Given the description of an element on the screen output the (x, y) to click on. 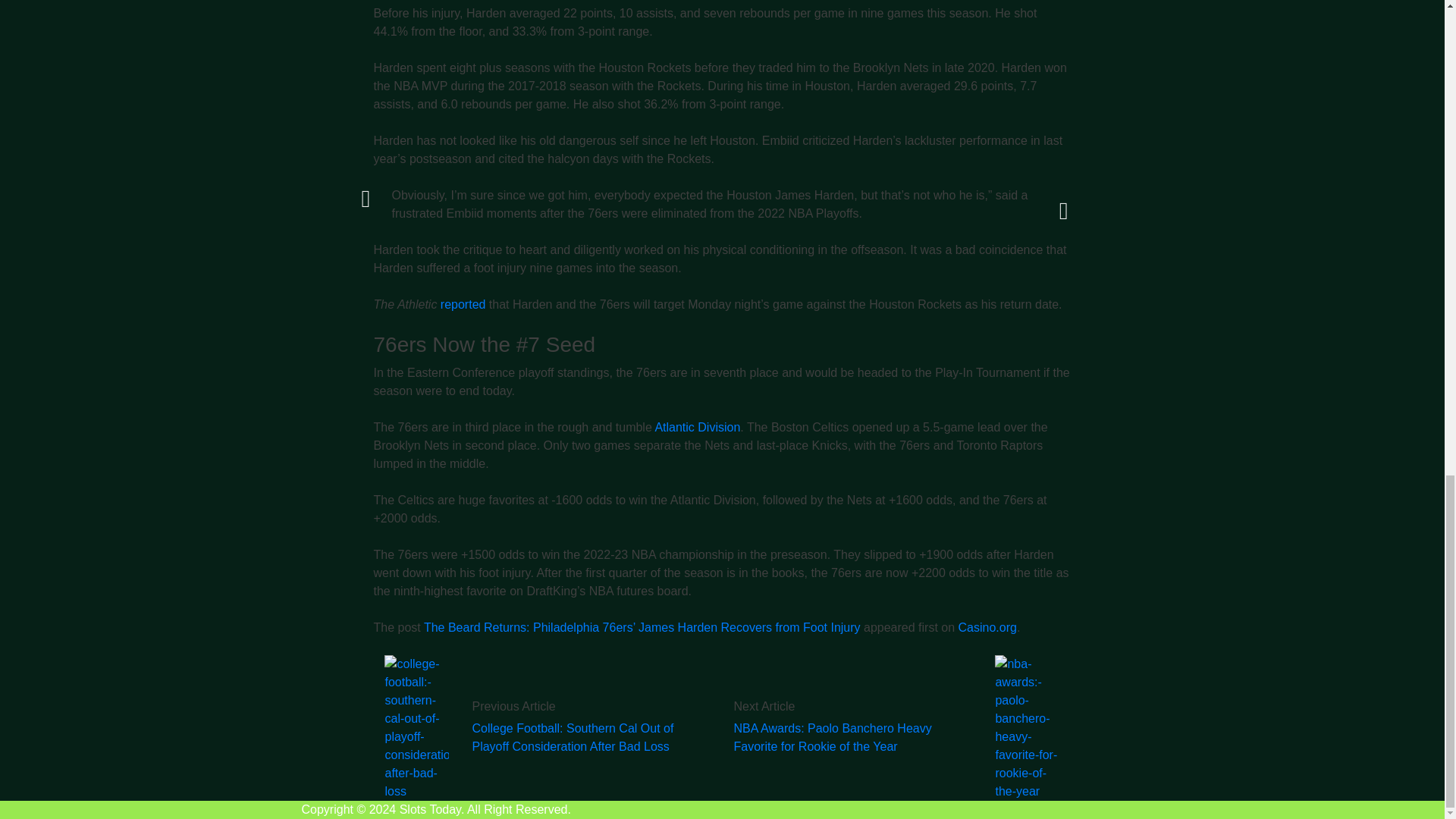
reported (463, 304)
Casino.org (987, 626)
Atlantic Division (696, 427)
